Given the description of an element on the screen output the (x, y) to click on. 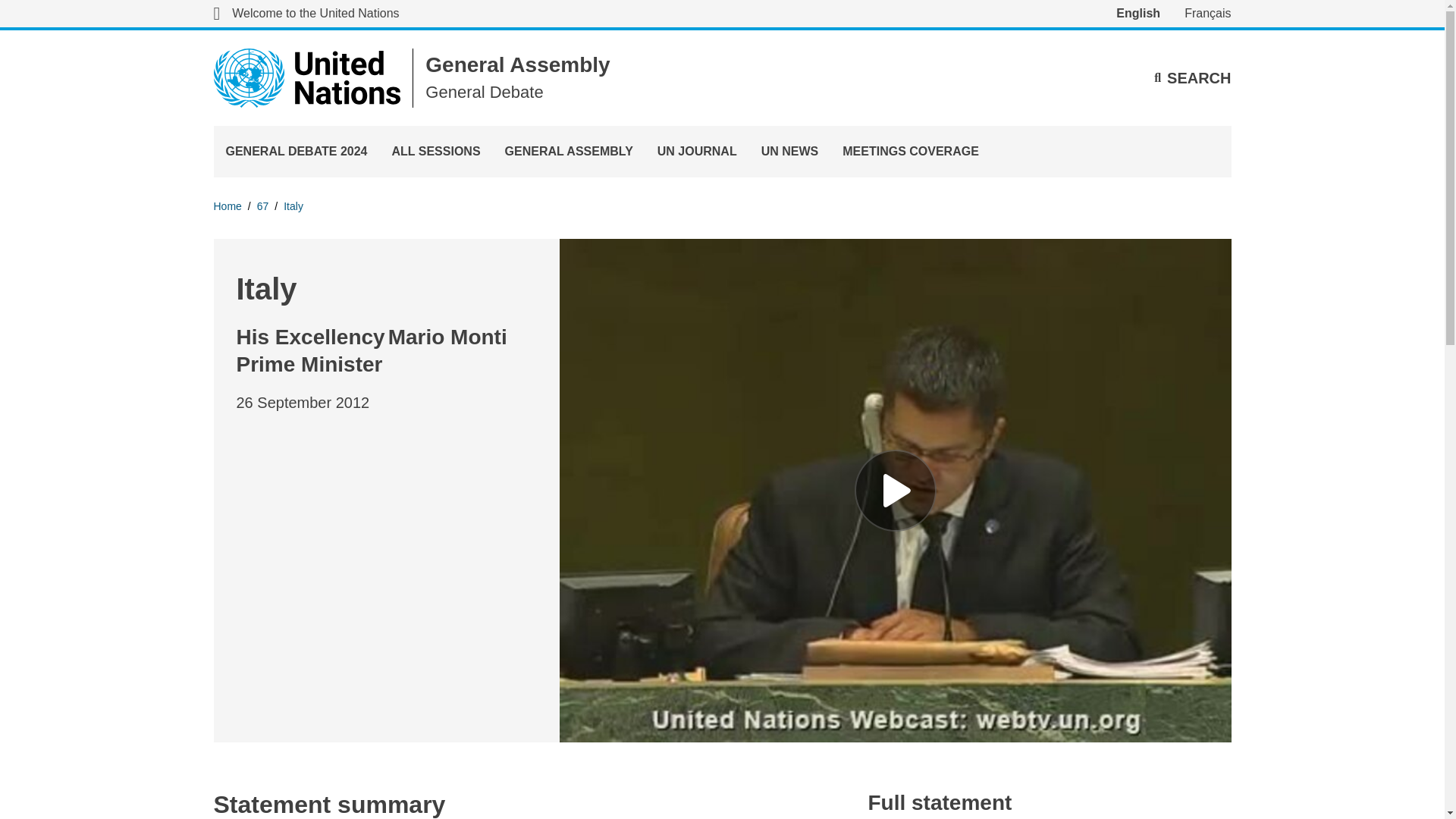
SEARCH (1192, 77)
ALL SESSIONS (436, 151)
GENERAL ASSEMBLY (569, 151)
English (1138, 13)
United Nations (307, 76)
UN JOURNAL (697, 151)
Home (227, 205)
United Nations (306, 13)
MEETINGS COVERAGE (910, 151)
GENERAL DEBATE 2024 (297, 151)
UN NEWS (790, 151)
Italy (292, 205)
General Assembly (517, 64)
67 (263, 205)
General Assembly (517, 64)
